Given the description of an element on the screen output the (x, y) to click on. 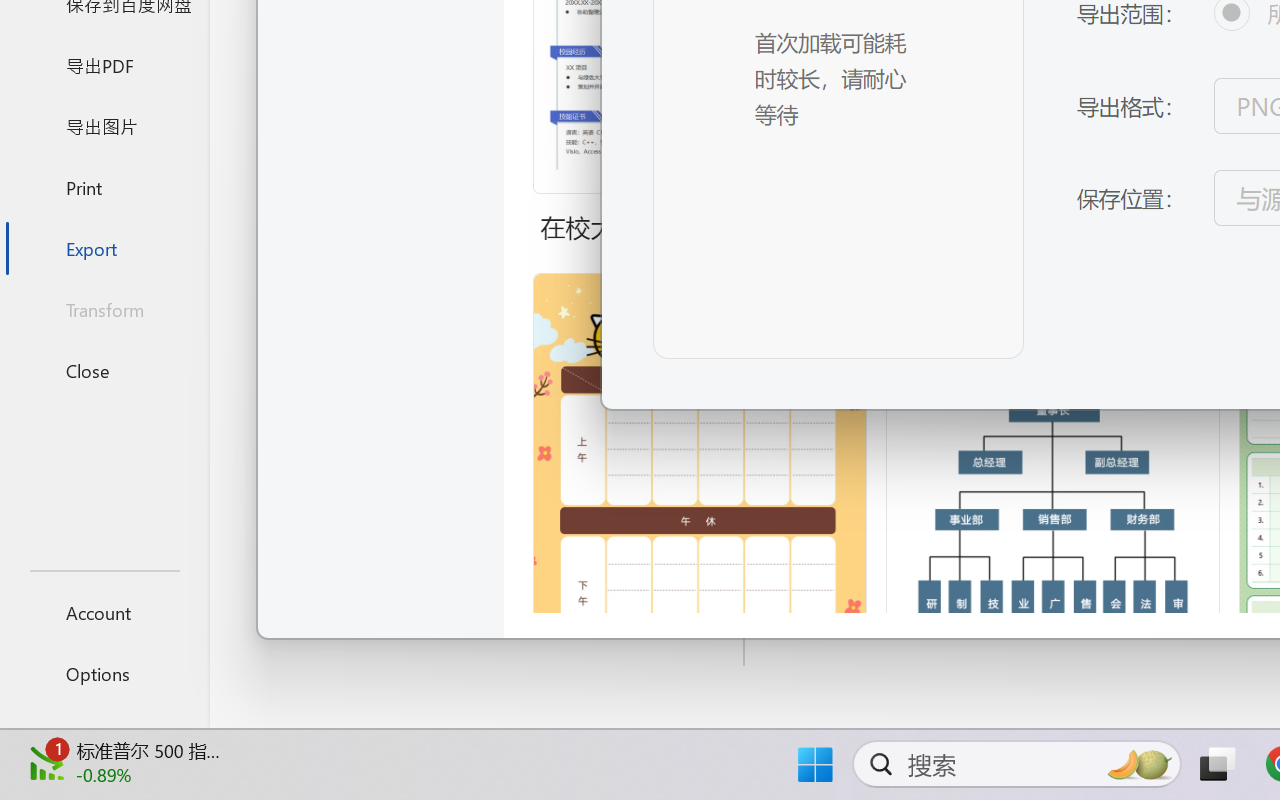
Go to the Reporting and appeals page (1134, 183)
Go to the Product policy page (861, 183)
